Given the description of an element on the screen output the (x, y) to click on. 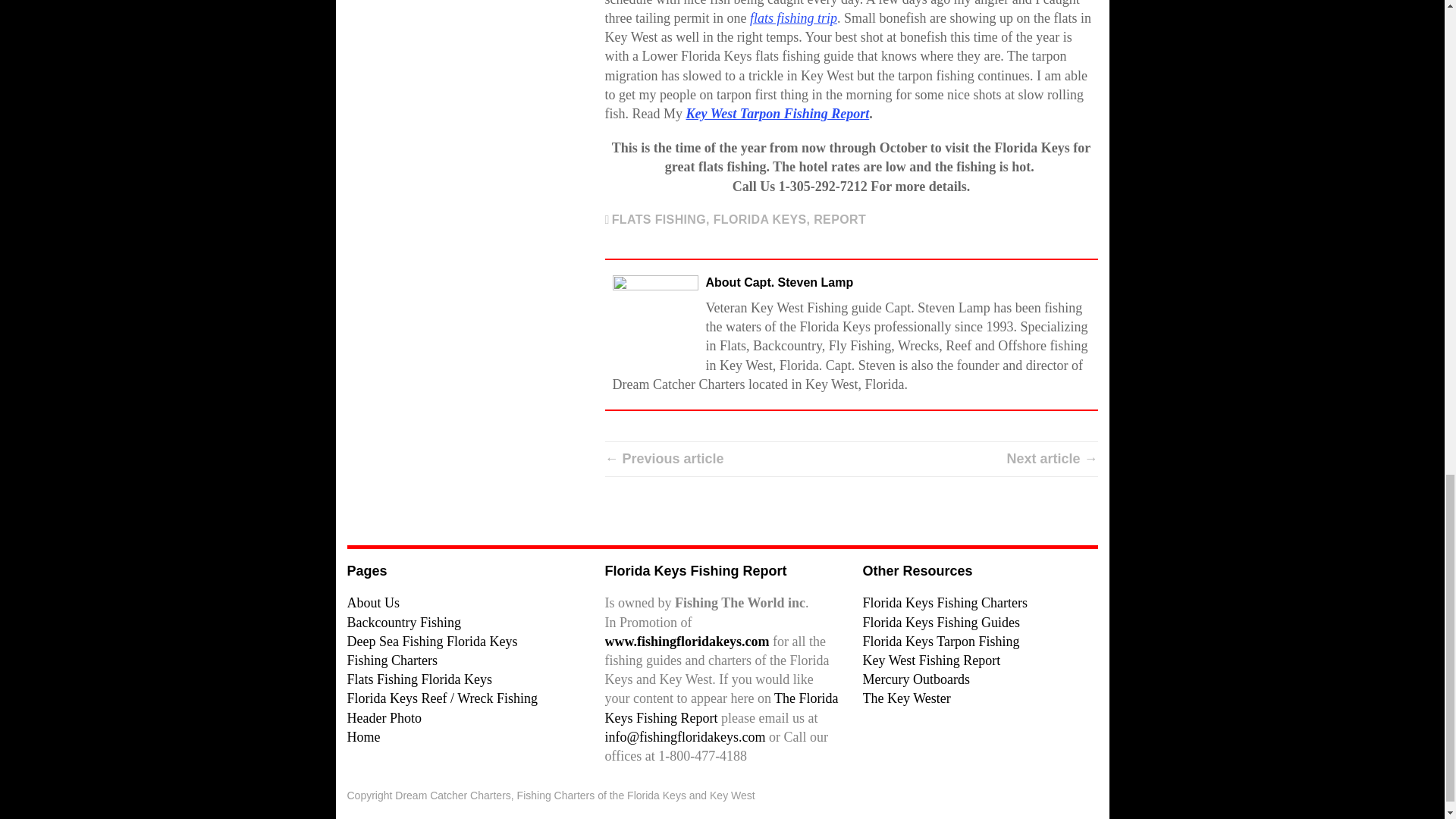
REPORT (839, 219)
FLORIDA KEYS (759, 219)
flats fishing trip (793, 17)
Key West Tarpon Fishing Report (777, 113)
About Us (373, 602)
Backcountry Fishing (404, 622)
Flats Fishing Florida Keys (420, 679)
Deep Sea Fishing Florida Keys (432, 641)
Fishing Charters (392, 660)
FLATS FISHING (658, 219)
